Given the description of an element on the screen output the (x, y) to click on. 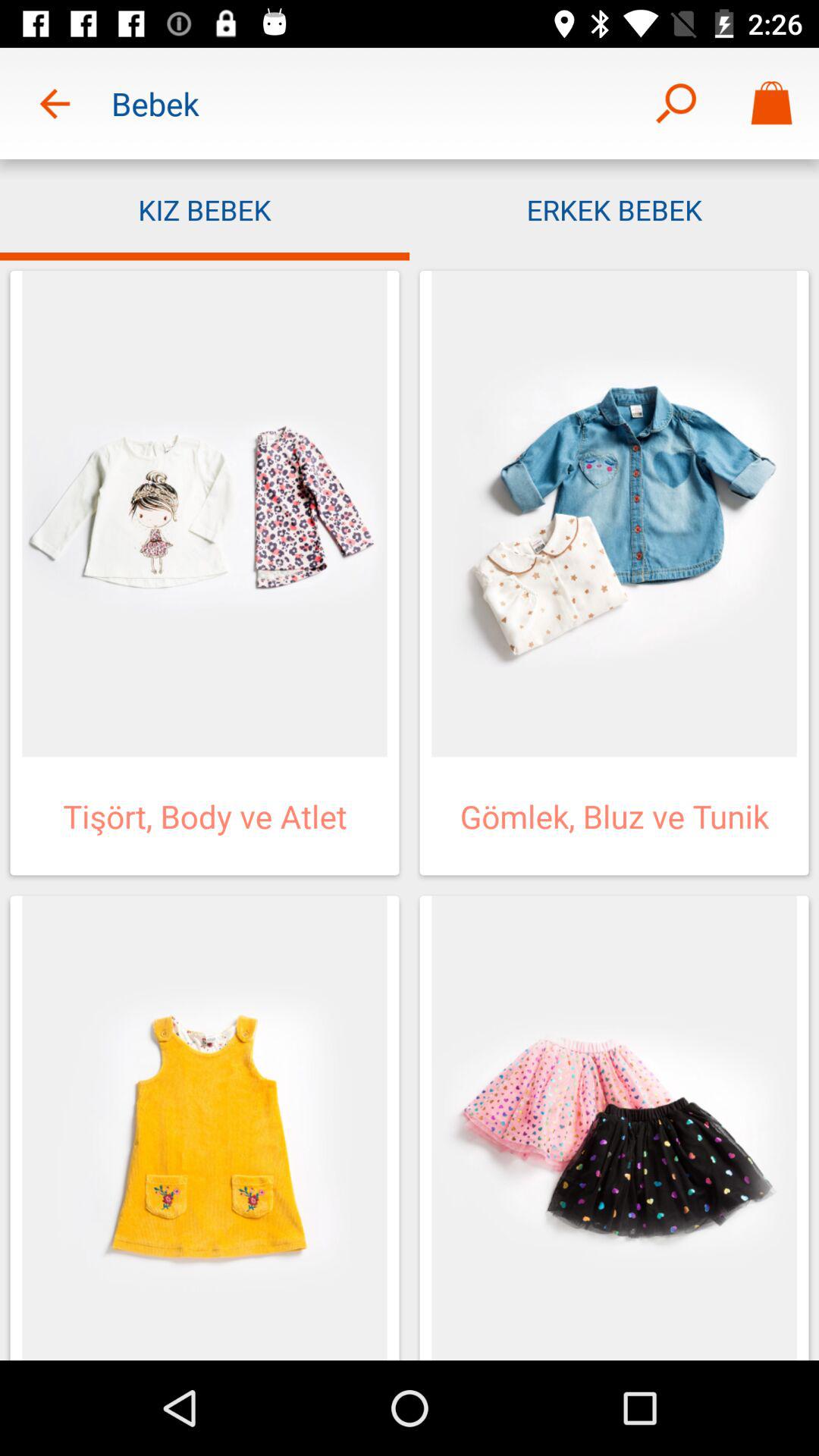
launch the item above the erkek bebek app (675, 103)
